Given the description of an element on the screen output the (x, y) to click on. 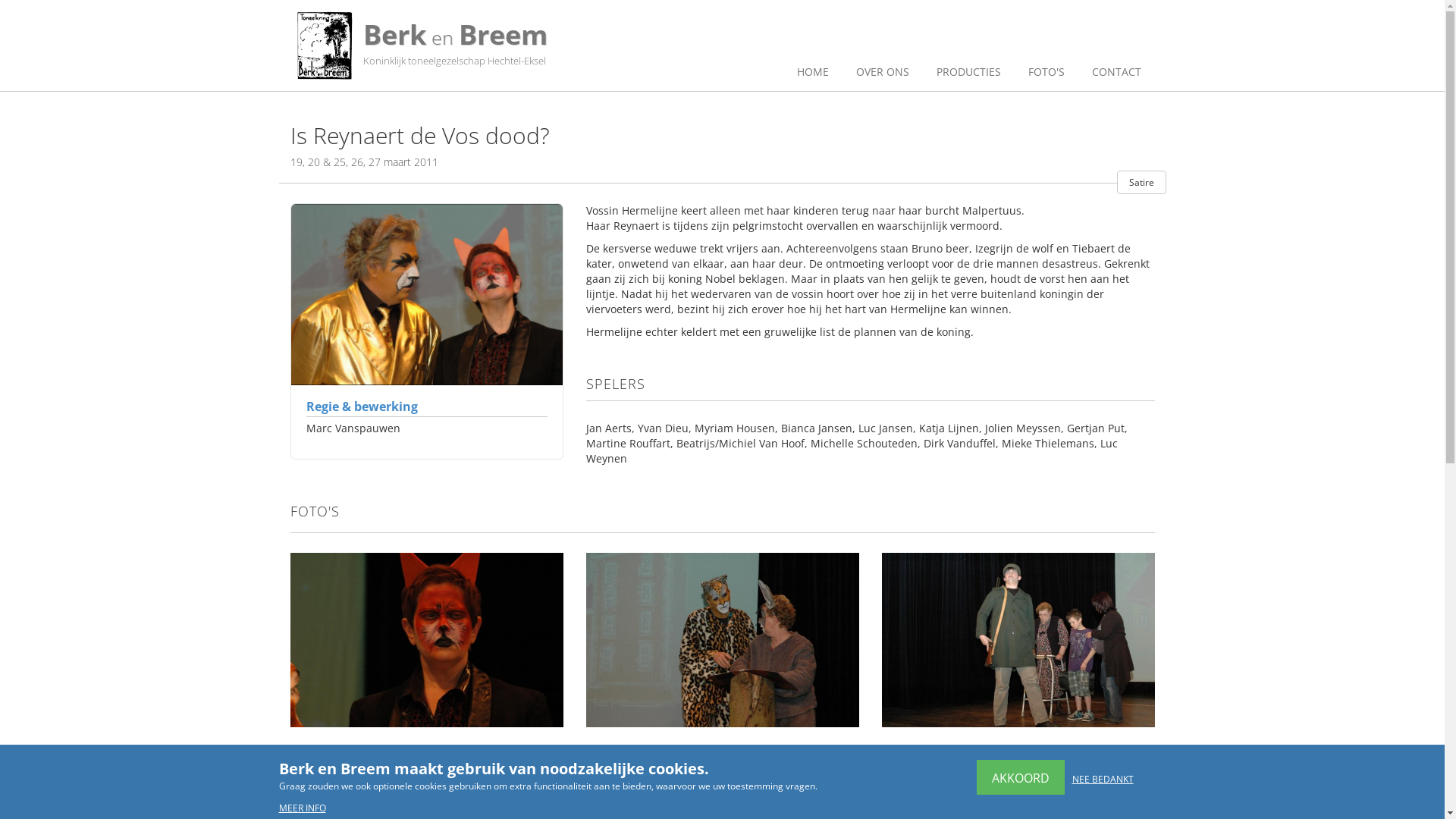
Is Reynaert de Vos dood? Element type: hover (425, 639)
Is Reynaert de Vos dood? Element type: hover (1017, 639)
PRODUCTIES Element type: text (968, 72)
Is Reynaert de Vos dood? Element type: hover (721, 639)
CONTACT Element type: text (1115, 72)
NEE BEDANKT Element type: text (1102, 778)
OVER ONS Element type: text (882, 72)
Berk en Breem
Koninklijk toneelgezelschap Hechtel-Eksel Element type: text (441, 45)
FOTO'S Element type: text (1045, 72)
Berk en Breem Element type: hover (323, 45)
AKKOORD Element type: text (1020, 776)
HOME Element type: text (812, 72)
MEER INFO Element type: text (304, 807)
Skip to main content Element type: text (52, 0)
